Given the description of an element on the screen output the (x, y) to click on. 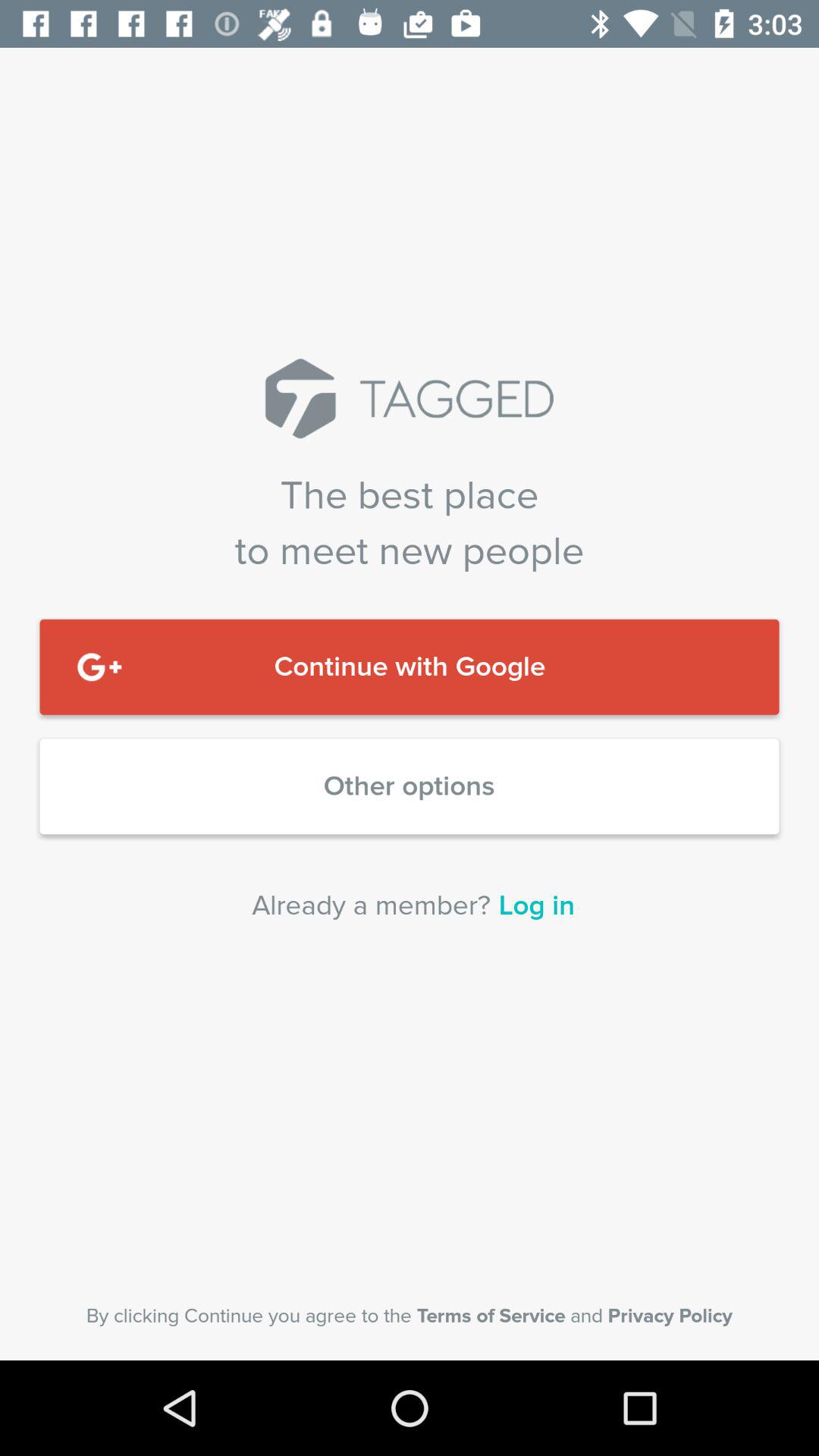
scroll to by clicking continue (409, 1316)
